Given the description of an element on the screen output the (x, y) to click on. 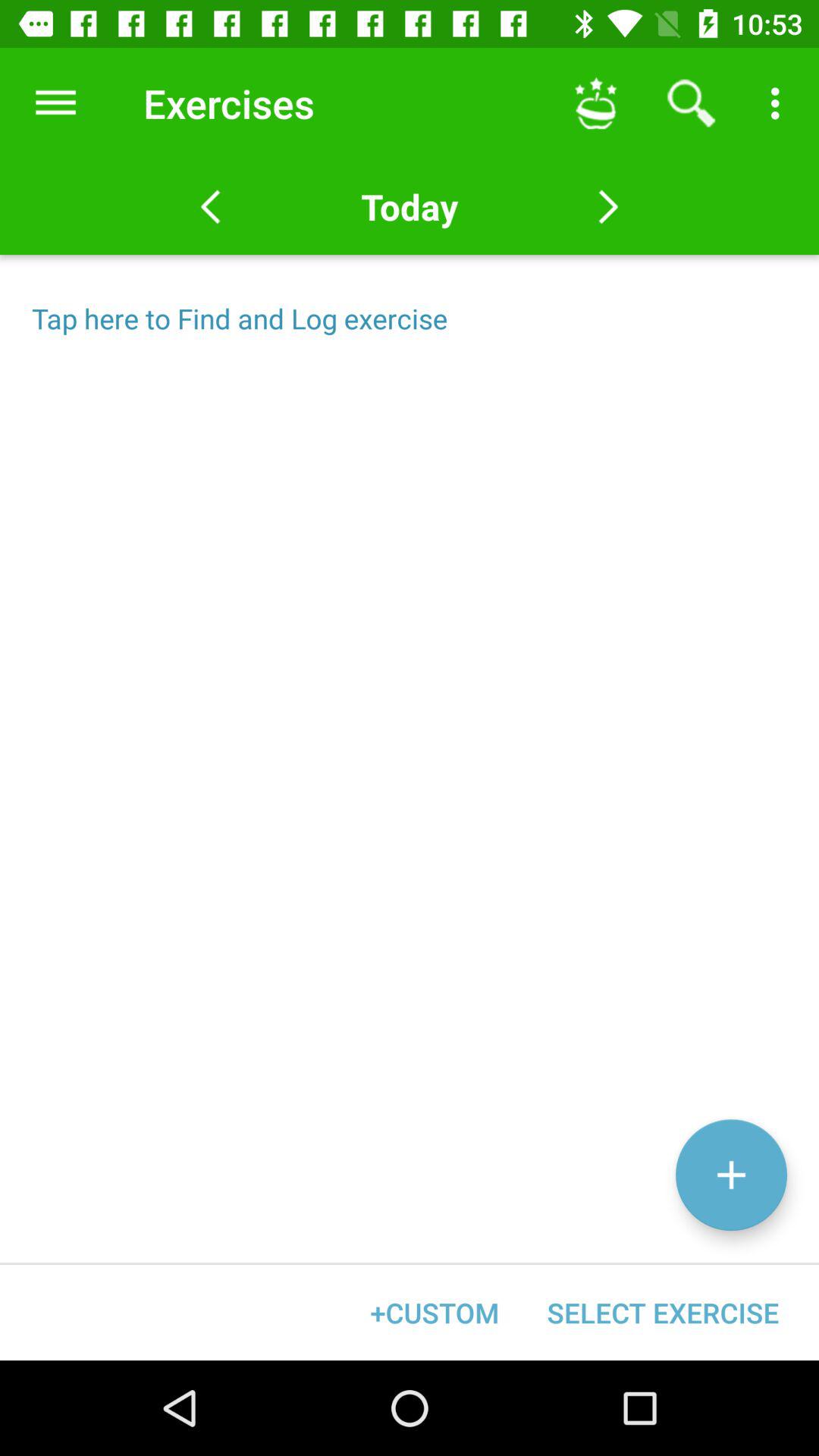
next day (608, 206)
